Given the description of an element on the screen output the (x, y) to click on. 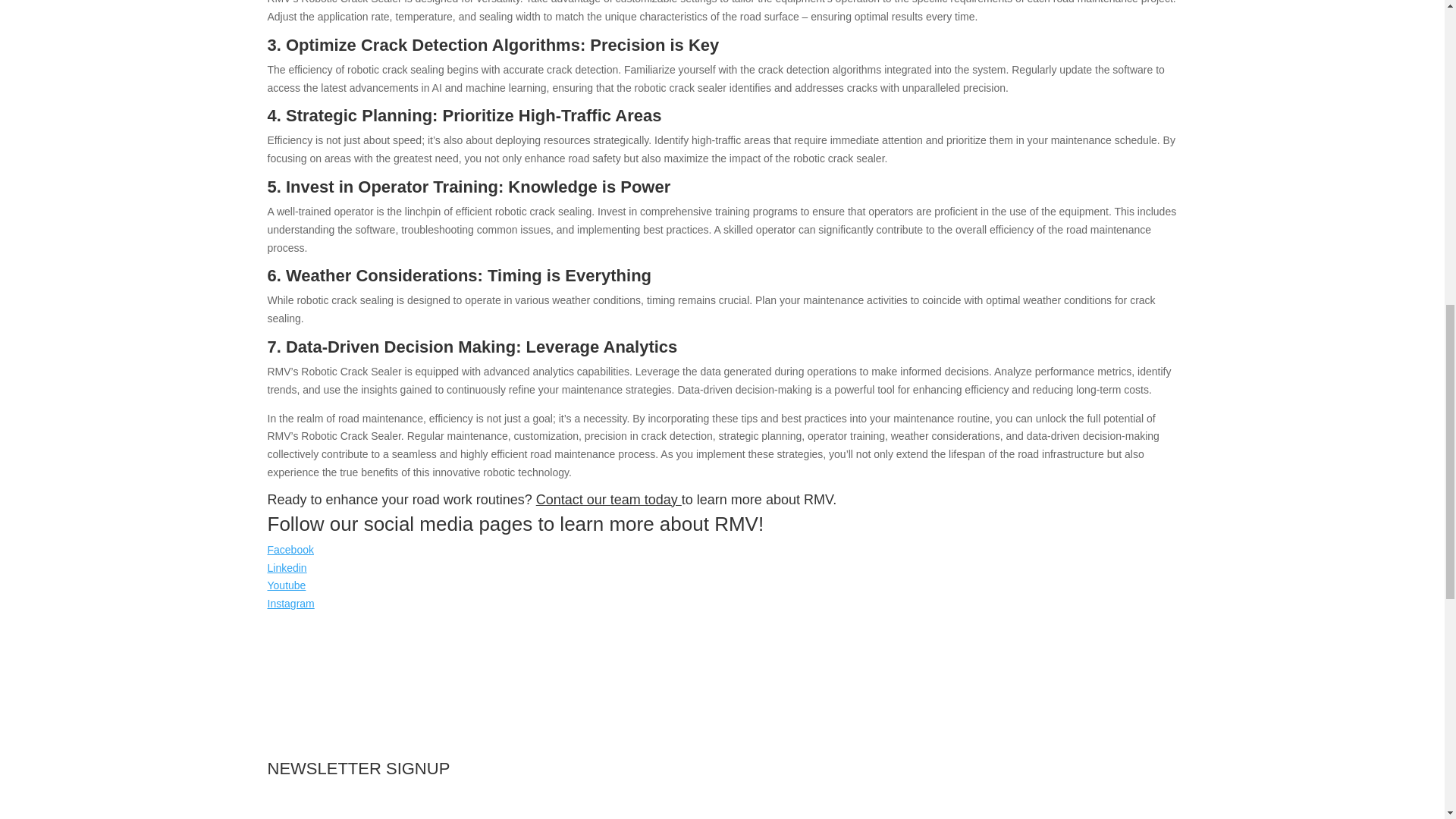
Contact our team today  (608, 499)
